Given the description of an element on the screen output the (x, y) to click on. 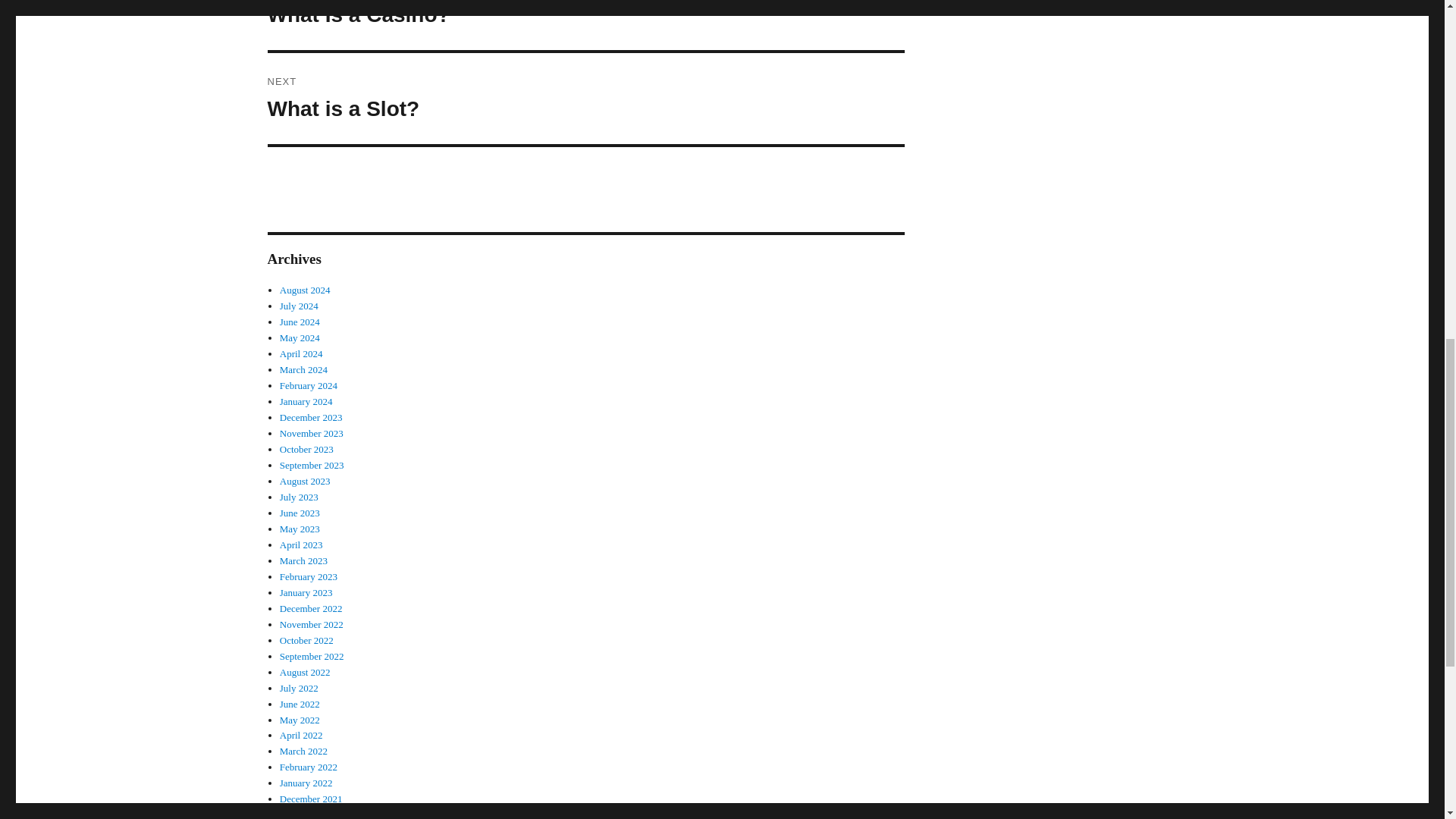
April 2024 (301, 353)
November 2023 (311, 432)
March 2024 (303, 369)
June 2024 (299, 321)
February 2024 (308, 385)
July 2024 (298, 306)
February 2023 (308, 576)
April 2022 (301, 735)
January 2023 (306, 592)
March 2023 (303, 560)
